Given the description of an element on the screen output the (x, y) to click on. 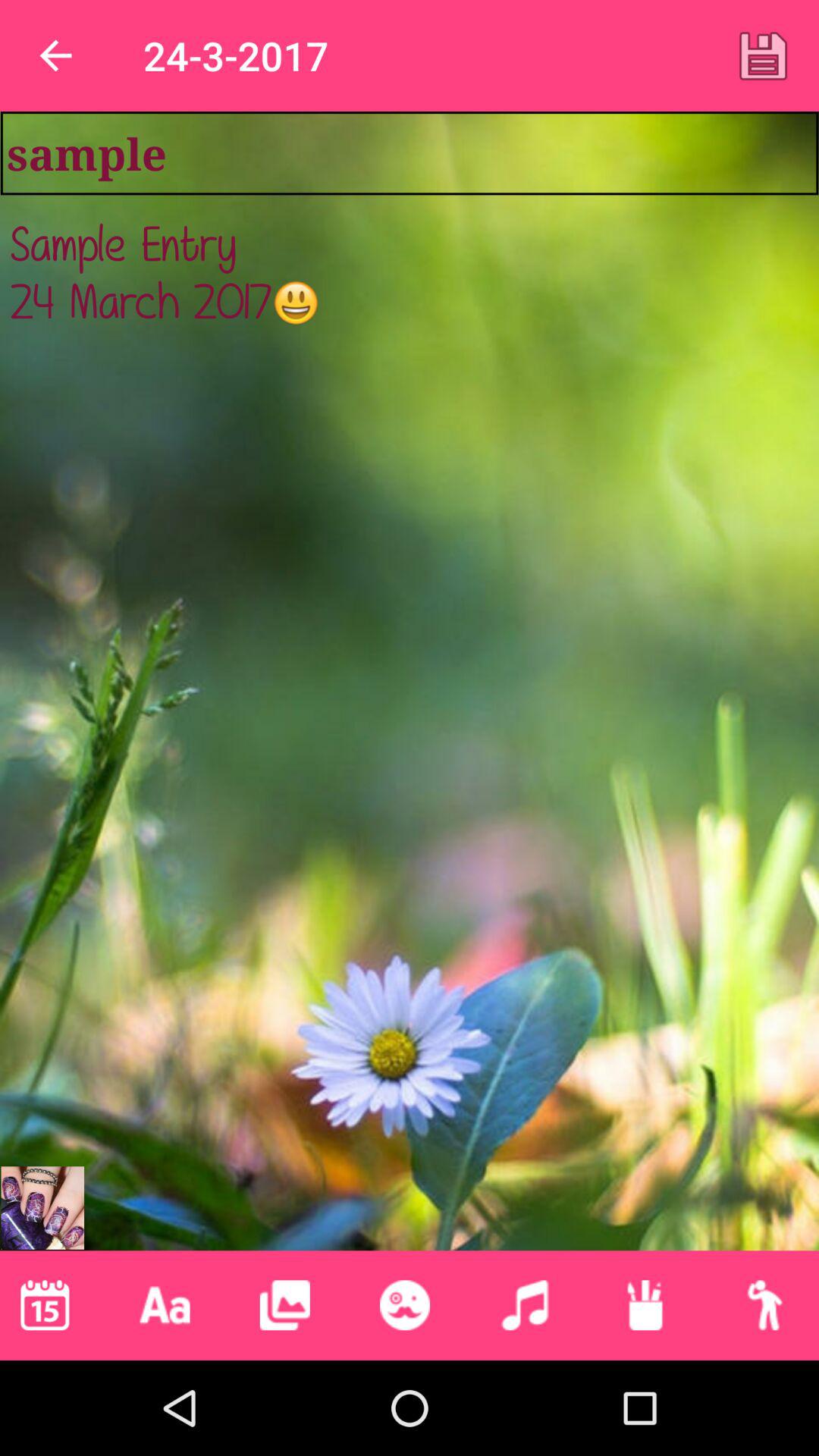
open editor (404, 1305)
